Given the description of an element on the screen output the (x, y) to click on. 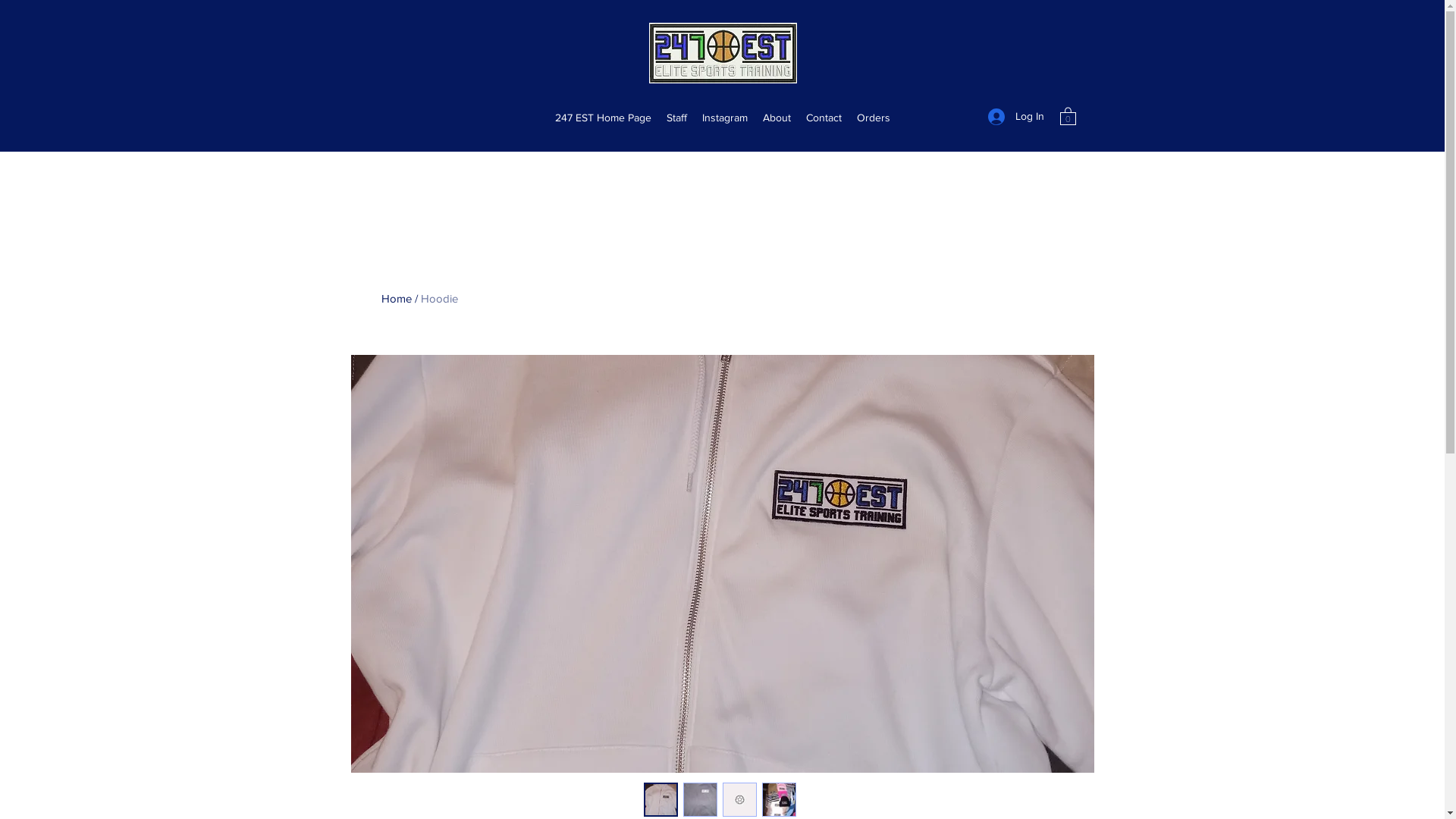
Log In Element type: text (1015, 116)
Home Element type: text (395, 297)
Orders Element type: text (873, 117)
Contact Element type: text (822, 117)
247 EST Home Page Element type: text (602, 117)
Instagram Element type: text (724, 117)
0 Element type: text (1068, 115)
Staff Element type: text (675, 117)
Hoodie Element type: text (438, 297)
About Element type: text (776, 117)
